Given the description of an element on the screen output the (x, y) to click on. 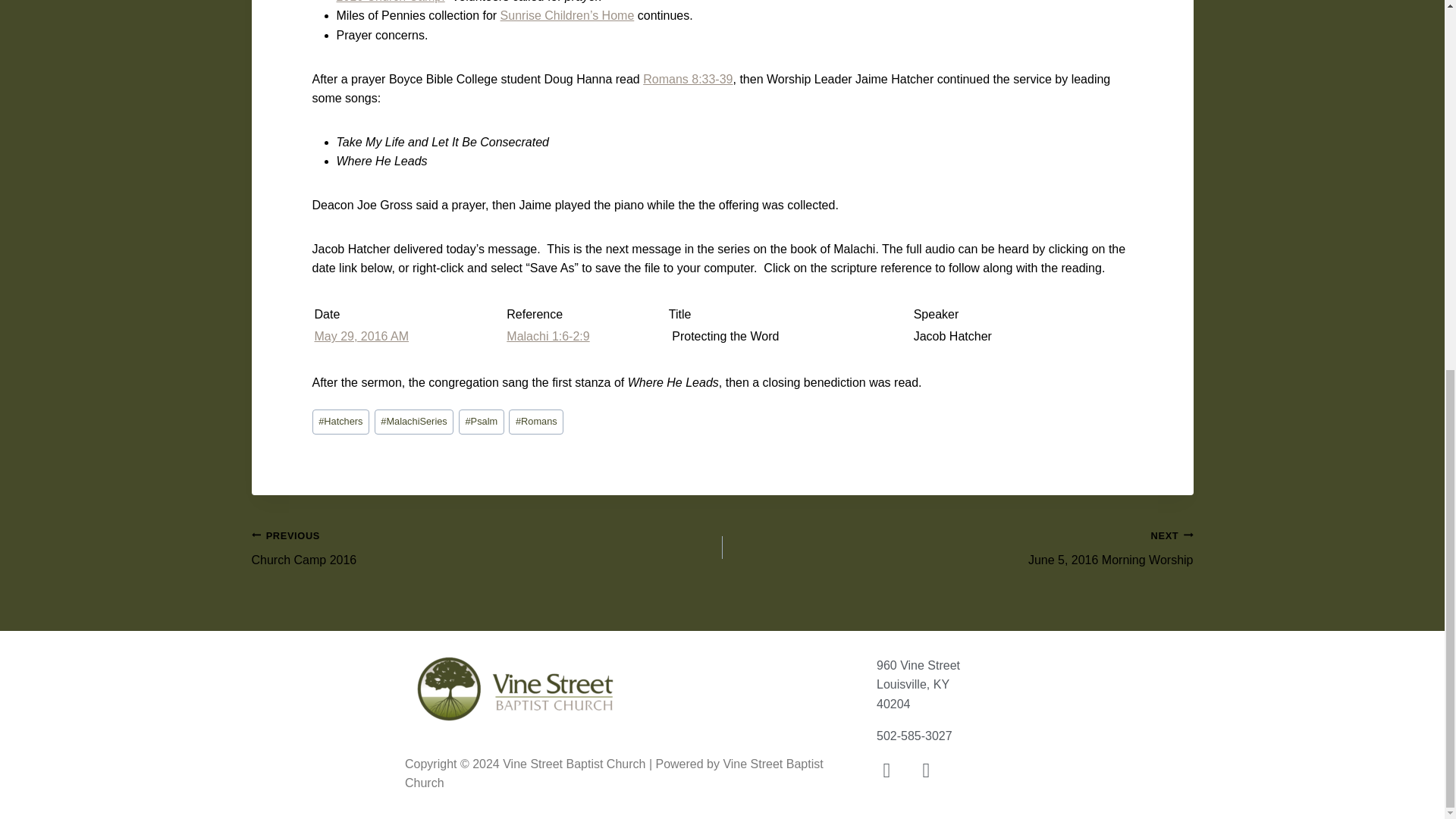
May 29, 2016 AM (361, 336)
Romans 8:33-39 (687, 78)
MalachiSeries (414, 421)
Romans (535, 421)
Psalm (480, 421)
Malachi 1:6-2:9 (547, 336)
Hatchers (341, 421)
2016 Church Camp! (390, 1)
